Given the description of an element on the screen output the (x, y) to click on. 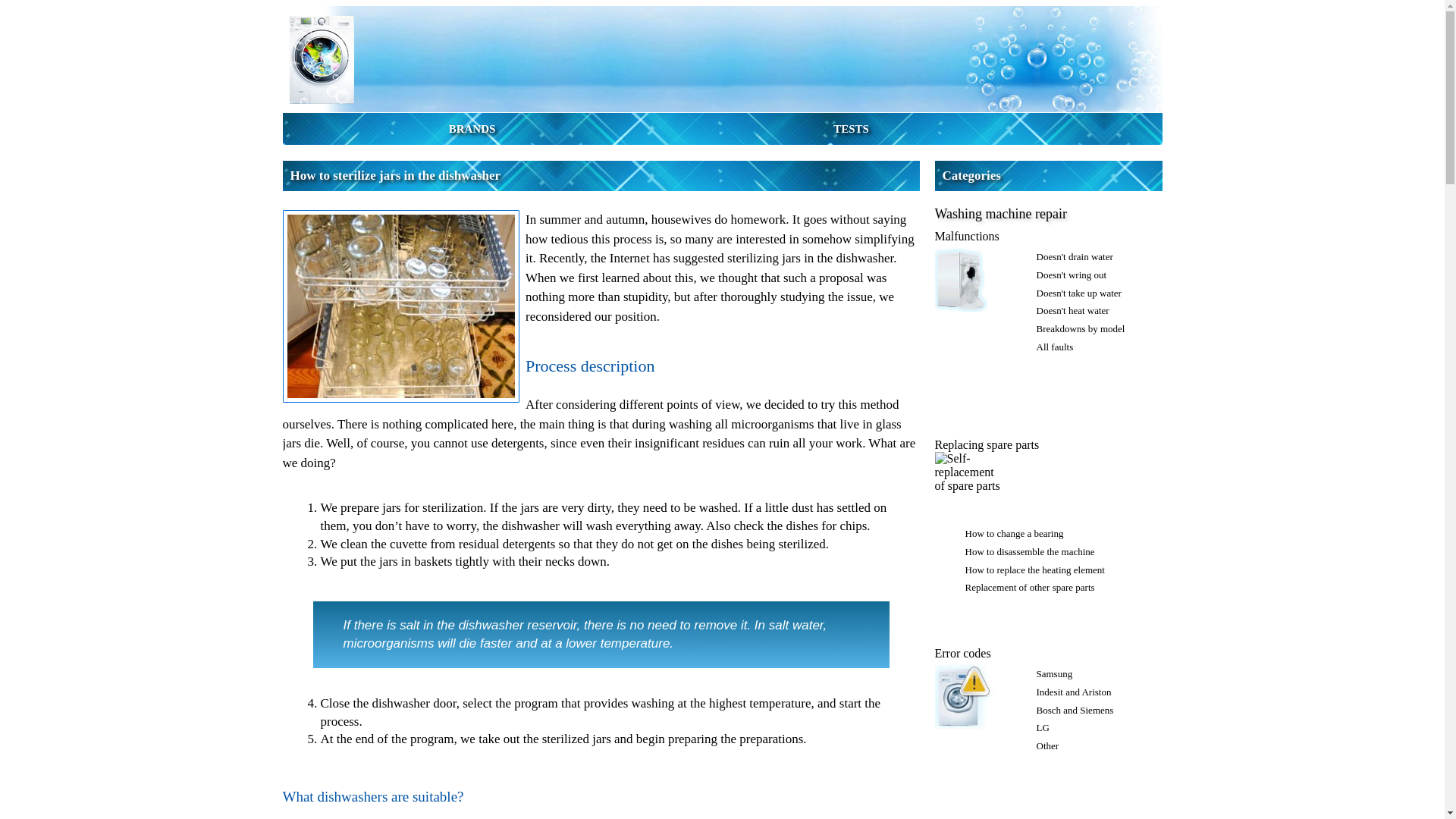
Doesn't wring out (1070, 274)
Doesn't drain water (1073, 256)
Doesn't heat water (1071, 310)
How to change a bearing (1012, 532)
TESTS (851, 128)
Other (1046, 745)
BRANDS (471, 128)
Error codes (962, 653)
Indesit and Ariston (1072, 691)
Breakdowns by model (1079, 328)
